Given the description of an element on the screen output the (x, y) to click on. 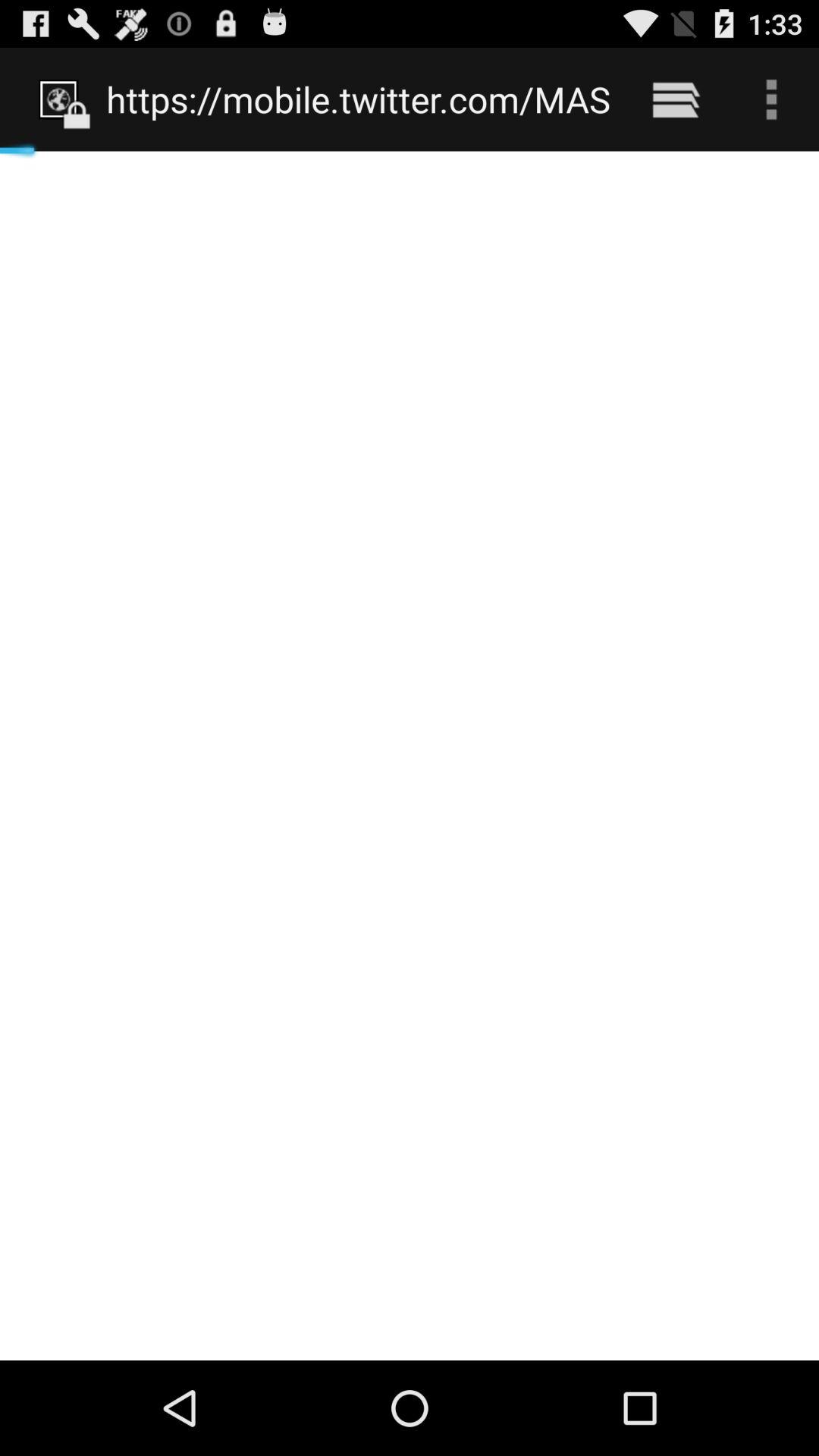
tap https mobile twitter icon (357, 99)
